Given the description of an element on the screen output the (x, y) to click on. 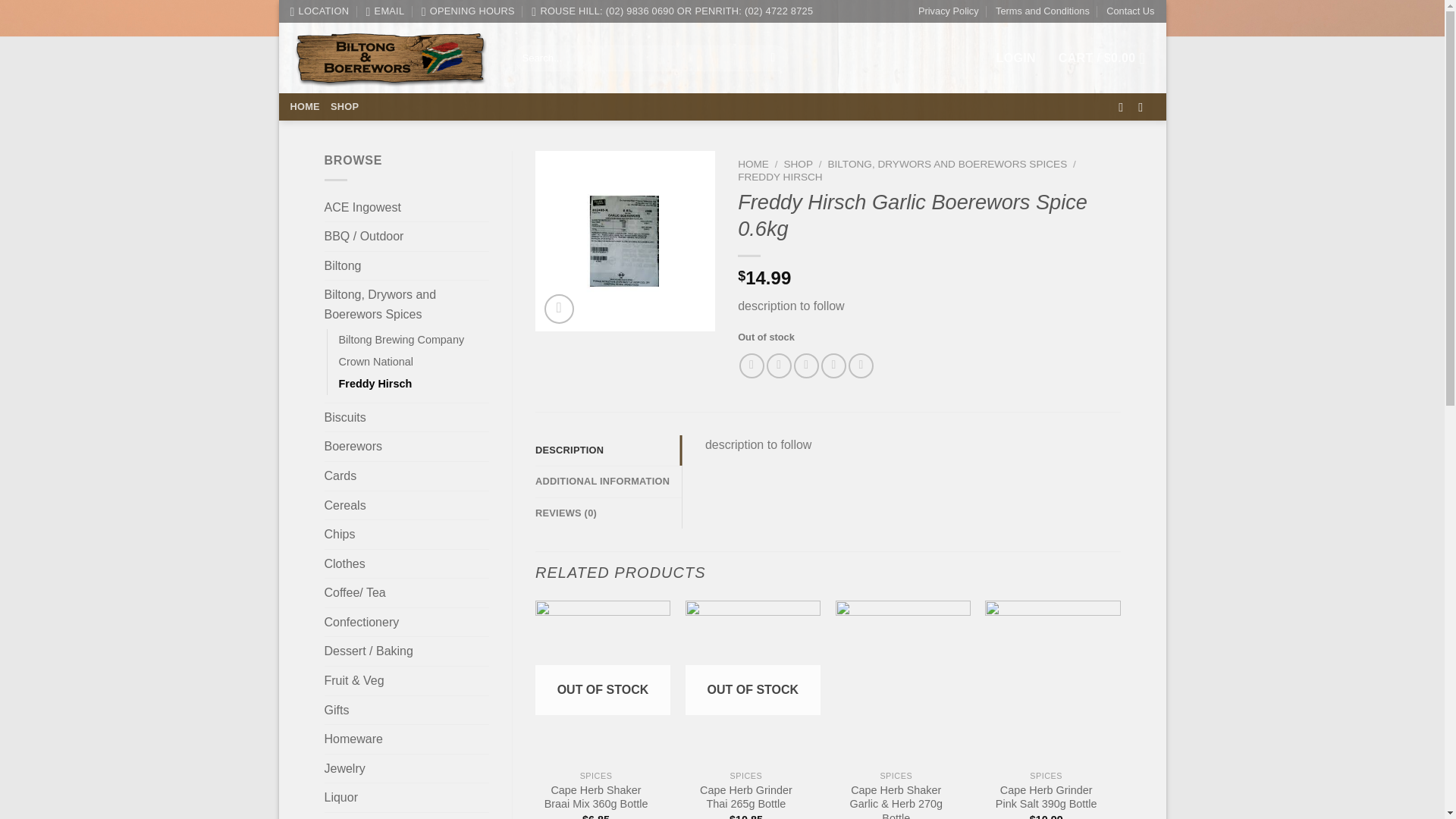
Cards (406, 475)
Biltong (406, 265)
Chips (406, 534)
Cereals (406, 505)
Freddy Hirsch (374, 383)
ACE Ingowest (406, 207)
Boerewors (406, 446)
Search (773, 58)
EMAIL (384, 11)
Biltong, Drywors and Boerewors Spices (406, 304)
